Given the description of an element on the screen output the (x, y) to click on. 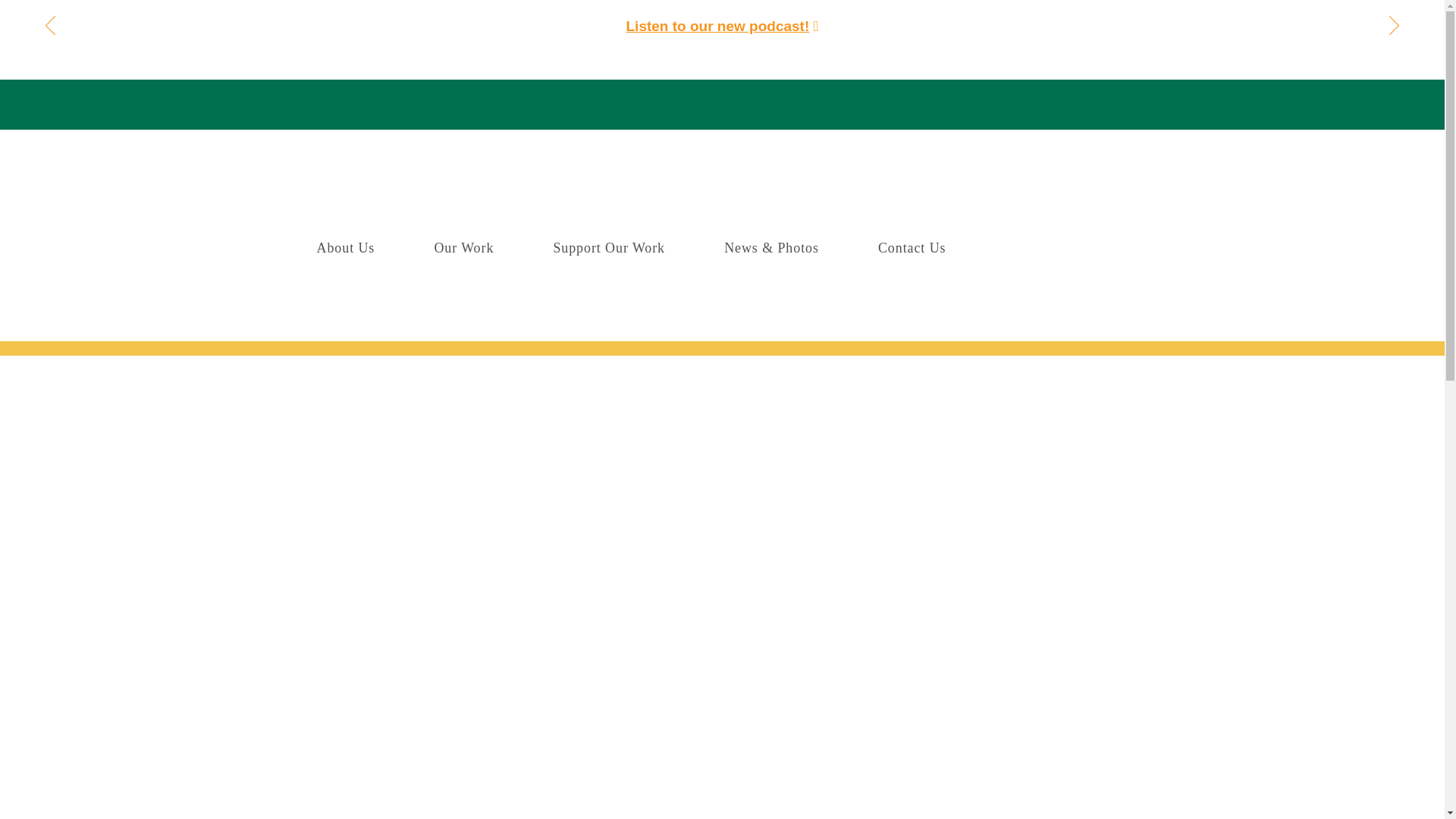
Listen to our new podcast! (717, 26)
